Given the description of an element on the screen output the (x, y) to click on. 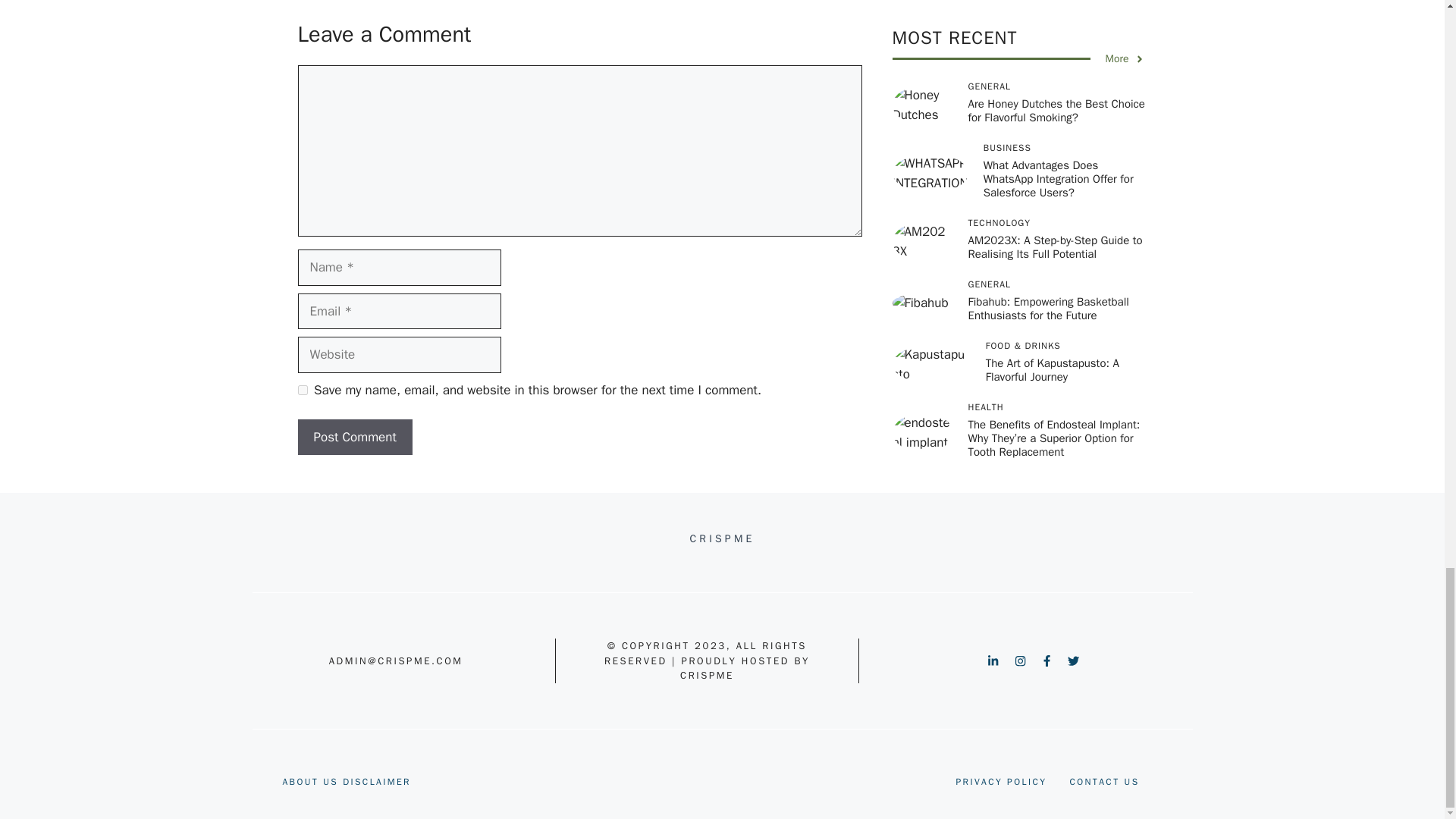
Post Comment (354, 437)
yes (302, 389)
